Given the description of an element on the screen output the (x, y) to click on. 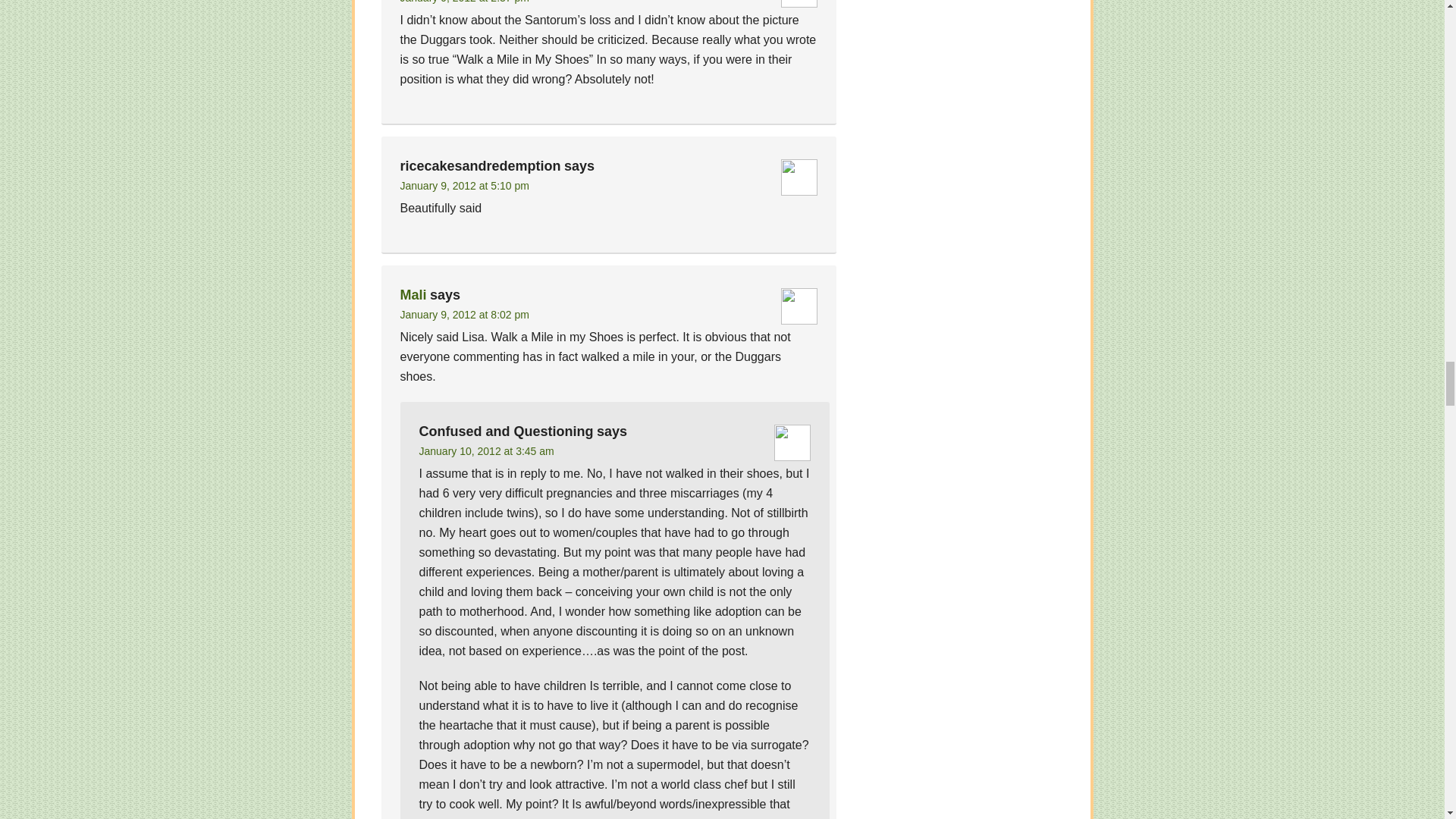
January 9, 2012 at 5:10 pm (464, 185)
January 9, 2012 at 2:37 pm (464, 2)
January 10, 2012 at 3:45 am (486, 451)
Mali (413, 294)
January 9, 2012 at 8:02 pm (464, 314)
